Given the description of an element on the screen output the (x, y) to click on. 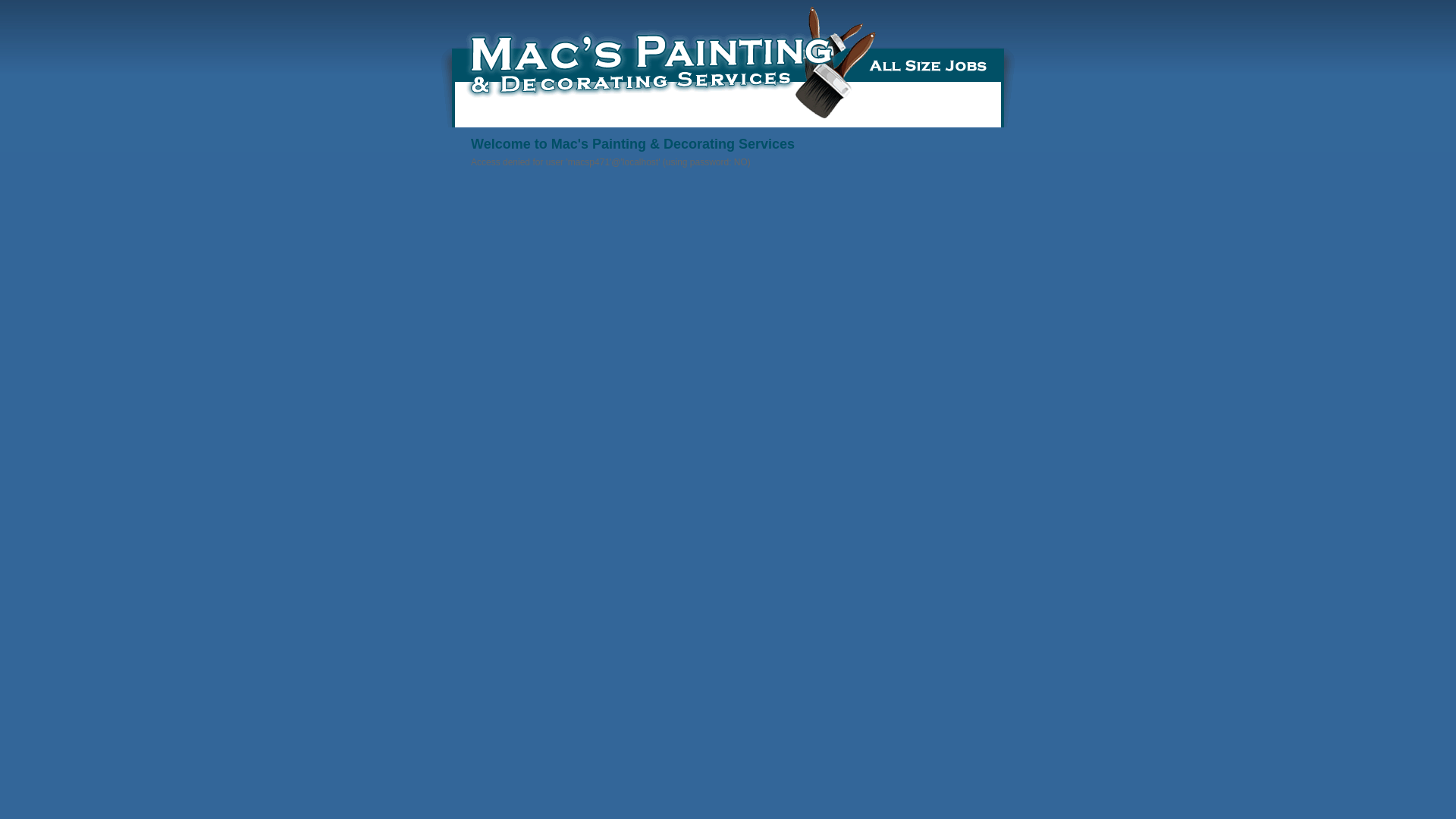
Macs Painting & Decorating Services Element type: hover (727, 66)
